Given the description of an element on the screen output the (x, y) to click on. 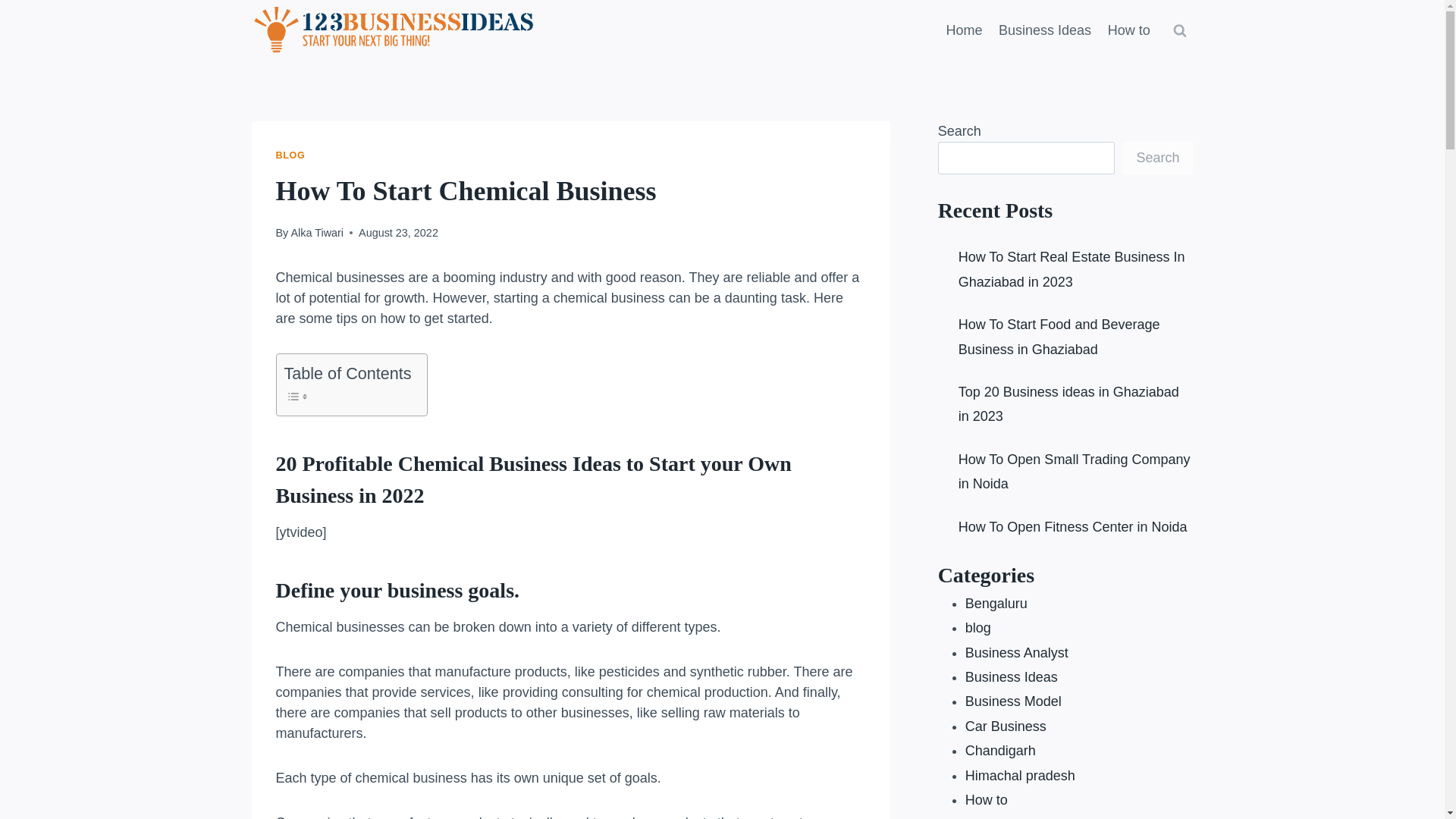
Business Ideas (1044, 30)
How to (1128, 30)
BLOG (290, 154)
Alka Tiwari (316, 232)
Home (964, 30)
